Given the description of an element on the screen output the (x, y) to click on. 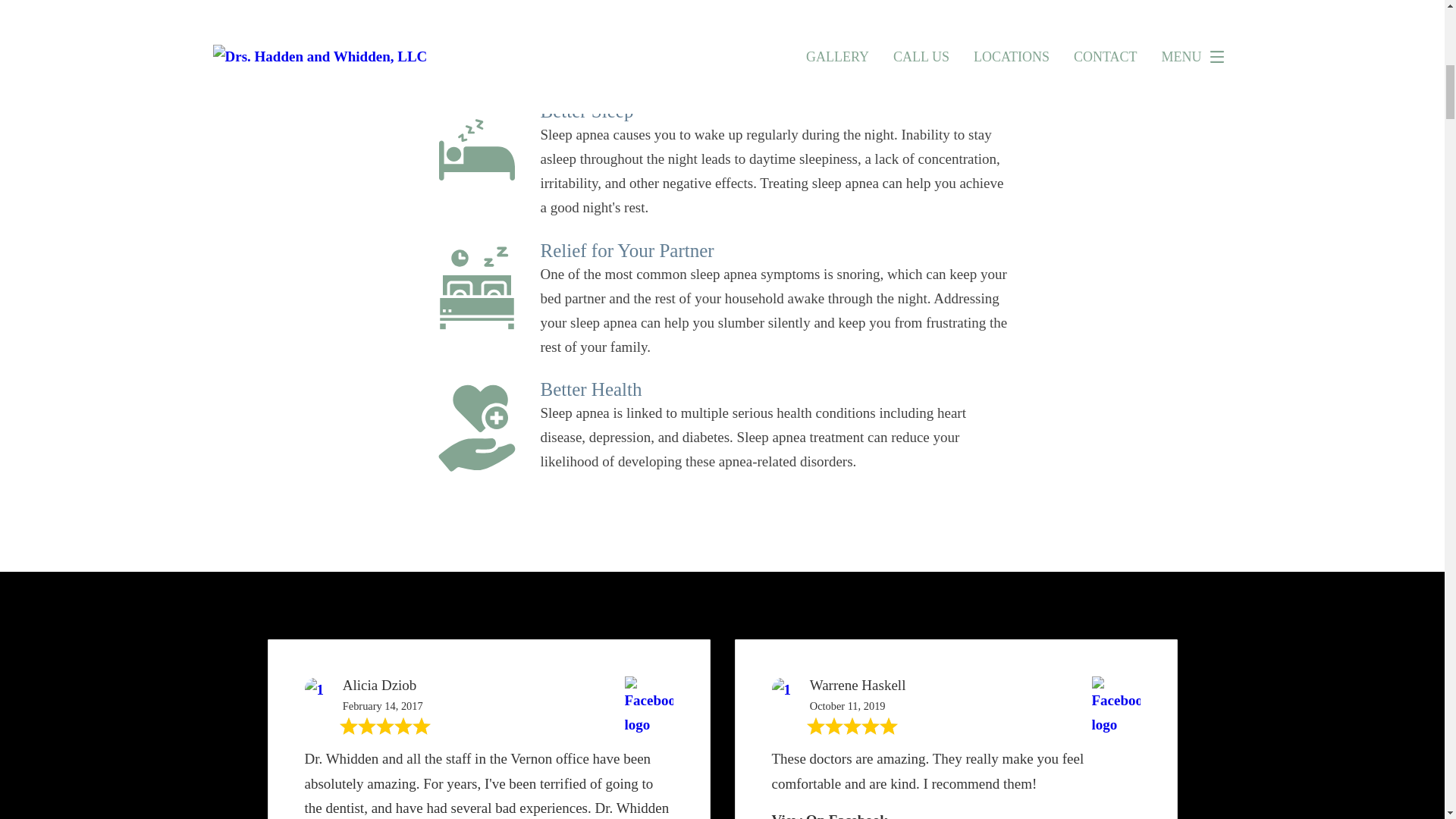
View On Facebook (829, 815)
